Given the description of an element on the screen output the (x, y) to click on. 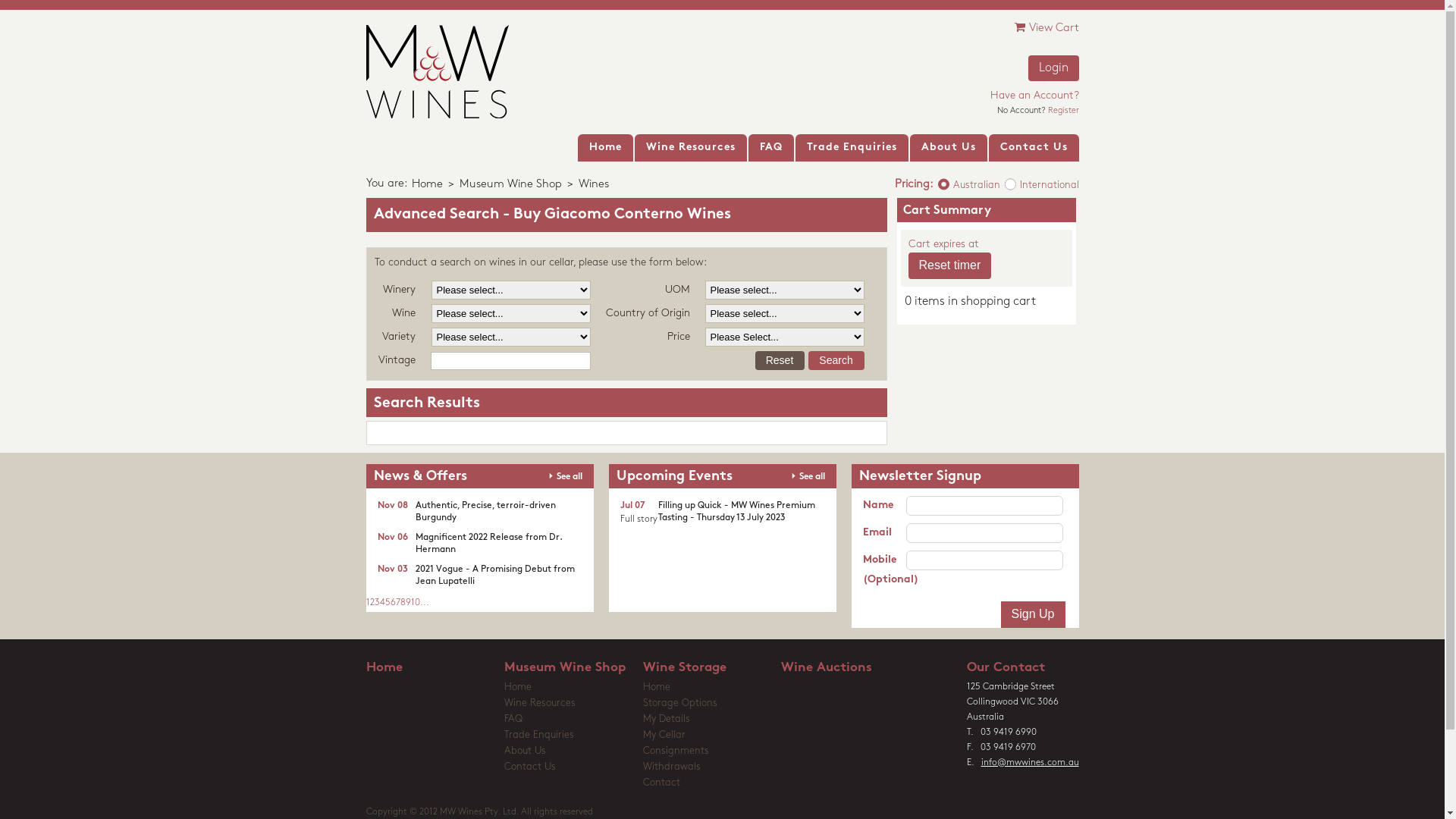
7 Element type: text (397, 602)
Contact Element type: text (712, 783)
Home Element type: text (605, 147)
Museum Wine Shop Element type: text (573, 667)
About Us Element type: text (573, 751)
Login Element type: text (1053, 68)
Search Element type: text (836, 360)
8 Element type: text (402, 602)
Consignments Element type: text (712, 751)
About Us Element type: text (948, 147)
Storage Options Element type: text (712, 704)
Trade Enquiries Element type: text (573, 735)
Home Element type: text (573, 688)
My Details Element type: text (712, 720)
FAQ Element type: text (573, 720)
Withdrawals Element type: text (712, 767)
See all Element type: text (808, 475)
Trade Enquiries Element type: text (850, 147)
Reset timer Element type: text (949, 265)
Contact Us Element type: text (1033, 147)
2021 Vogue - A Promising Debut from Jean Lupatelli Element type: text (494, 575)
4 Element type: text (381, 602)
INT Element type: text (999, 176)
Wine Storage Element type: text (712, 667)
1 Element type: text (367, 602)
info@mwwines.com.au Element type: text (1030, 762)
Wine Auctions Element type: text (850, 667)
2 Element type: text (372, 602)
Home Element type: text (426, 184)
My Cellar Element type: text (712, 735)
Sign Up Element type: text (1033, 614)
Home Element type: text (434, 667)
Reset Element type: text (779, 360)
Register Element type: text (1063, 110)
Home Element type: text (712, 688)
FAQ Element type: text (770, 147)
Magnificent 2022 Release from Dr. Hermann Element type: text (488, 543)
Wine Resources Element type: text (573, 704)
Authentic, Precise, terroir-driven Burgundy Element type: text (485, 511)
3 Element type: text (376, 602)
6 Element type: text (392, 602)
5 Element type: text (387, 602)
10 Element type: text (415, 602)
... Element type: text (424, 602)
Museum Wine Shop Element type: text (510, 184)
See all Element type: text (565, 475)
Wine Resources Element type: text (689, 147)
9 Element type: text (407, 602)
Full story Element type: text (638, 519)
Contact Us Element type: text (573, 767)
View Cart Element type: text (1046, 28)
